Given the description of an element on the screen output the (x, y) to click on. 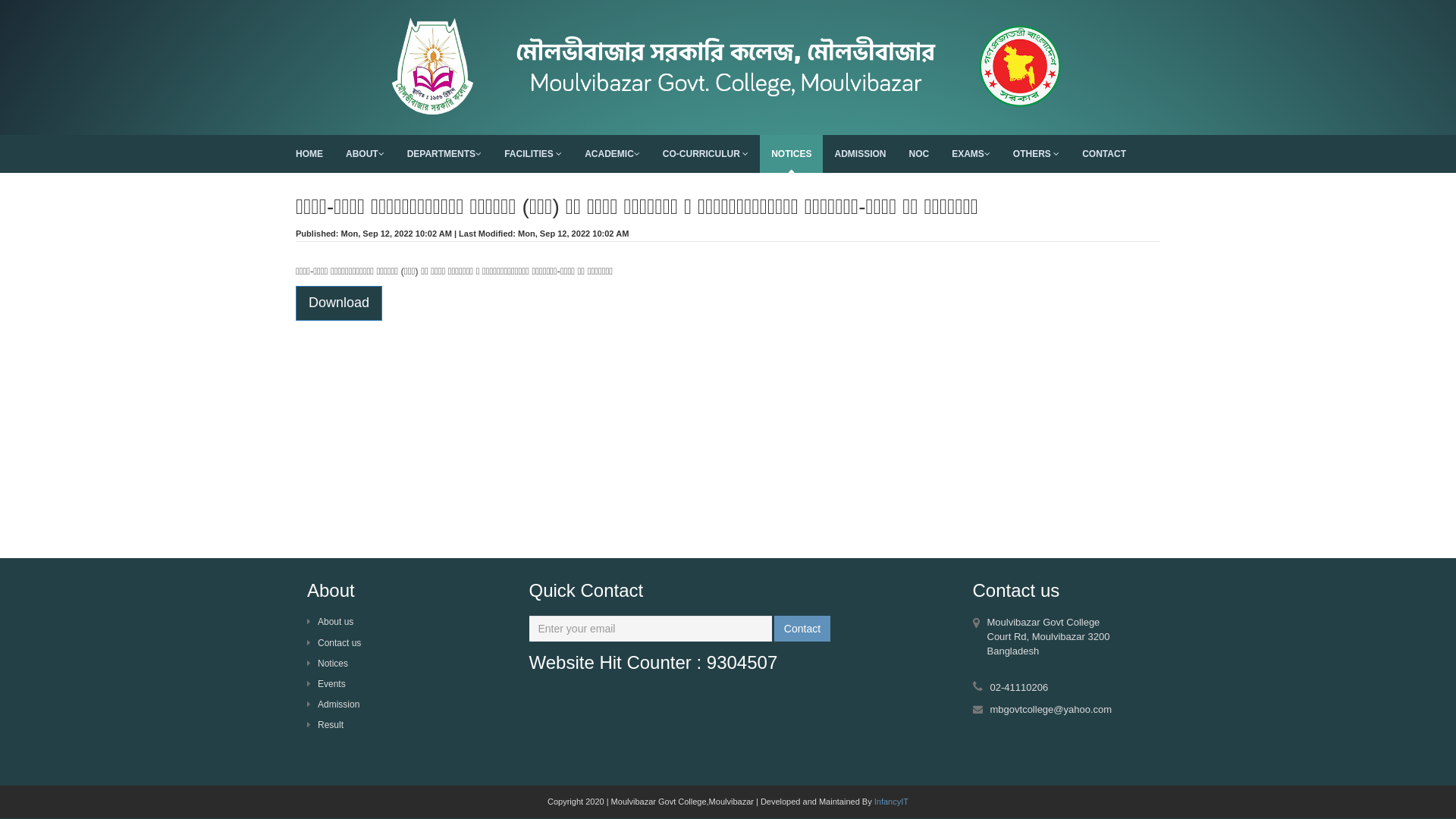
ABOUT Element type: text (364, 153)
CO-CURRICULUR Element type: text (705, 153)
Notices Element type: text (327, 663)
Events Element type: text (326, 683)
Admission Element type: text (333, 704)
NOTICES Element type: text (790, 153)
DEPARTMENTS Element type: text (443, 153)
Download Element type: text (338, 302)
EXAMS Element type: text (970, 153)
NOC Element type: text (919, 153)
InfancyIT Element type: text (891, 801)
Result Element type: text (325, 724)
Contact us Element type: text (333, 642)
ACADEMIC Element type: text (612, 153)
Download Element type: text (338, 302)
mbgovtcollege@yahoo.com Element type: text (1051, 709)
CONTACT Element type: text (1103, 153)
About us Element type: text (330, 621)
ADMISSION Element type: text (859, 153)
OTHERS Element type: text (1035, 153)
FACILITIES Element type: text (532, 153)
HOME Element type: text (309, 153)
Contact Element type: text (802, 628)
